Given the description of an element on the screen output the (x, y) to click on. 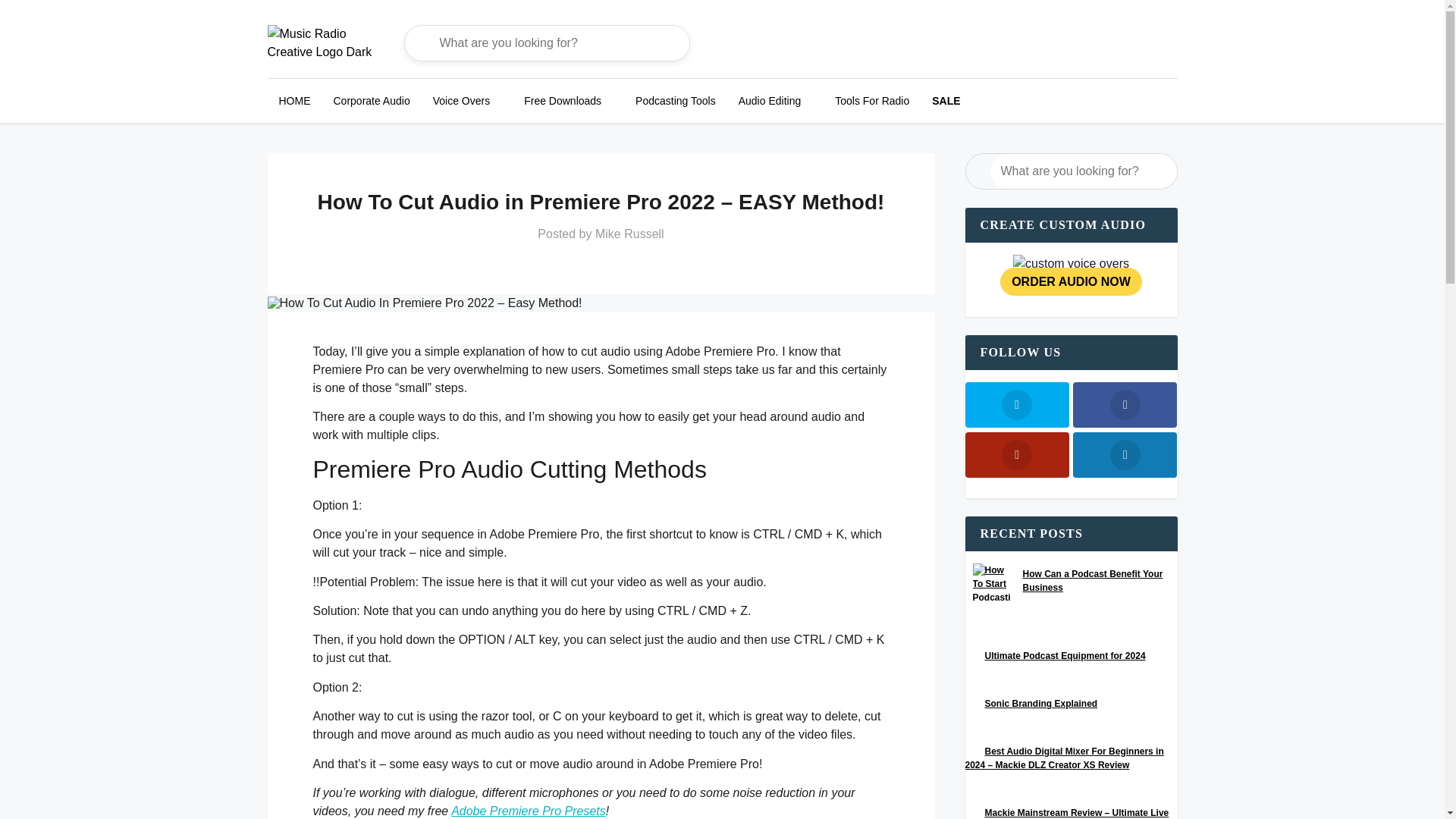
Free Downloads (562, 100)
Podcasting Tools (675, 100)
Corporate Audio (370, 100)
Voice Overs (461, 100)
HOME (293, 100)
